Given the description of an element on the screen output the (x, y) to click on. 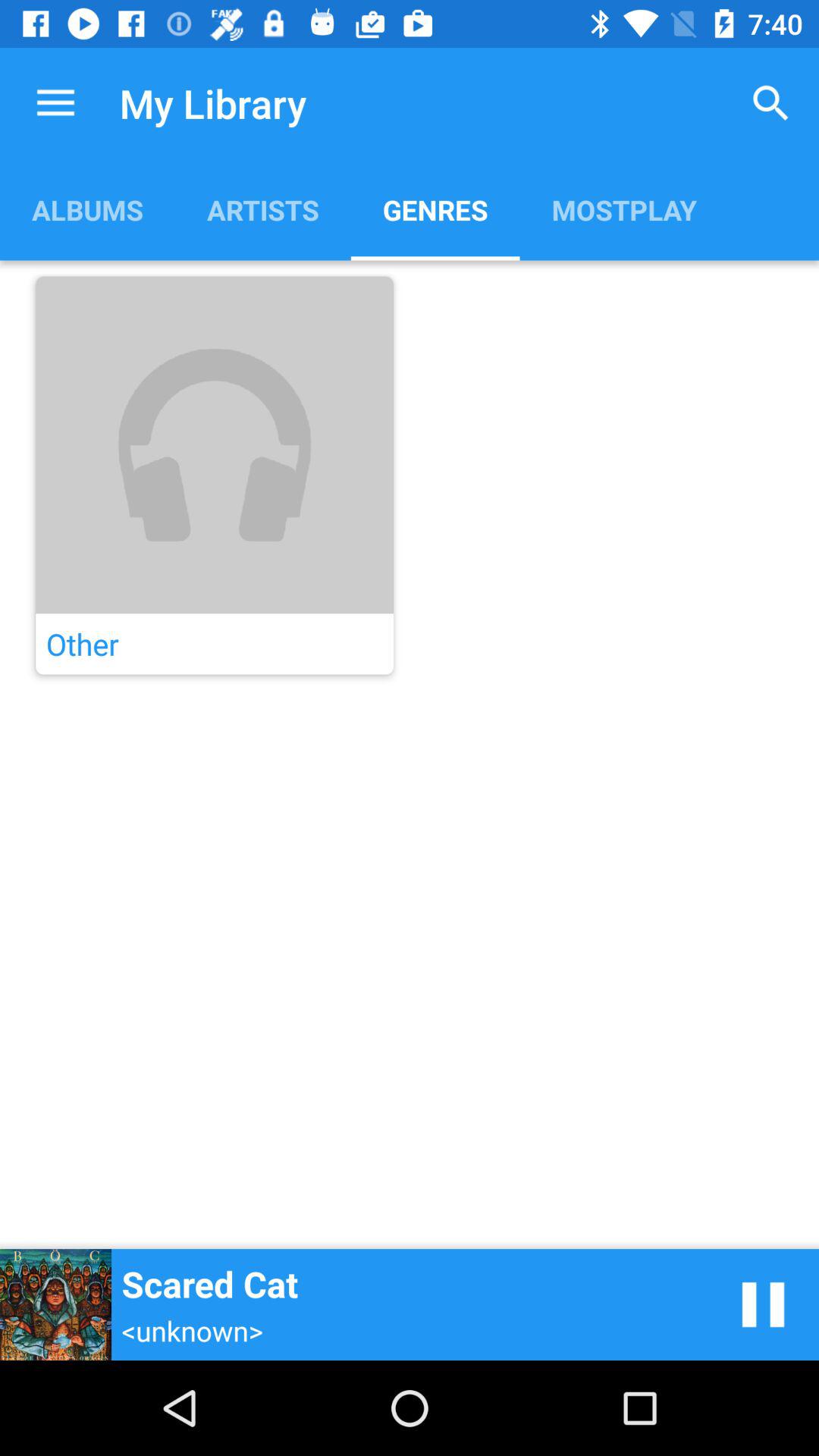
press the icon next to the scared cat item (763, 1304)
